Given the description of an element on the screen output the (x, y) to click on. 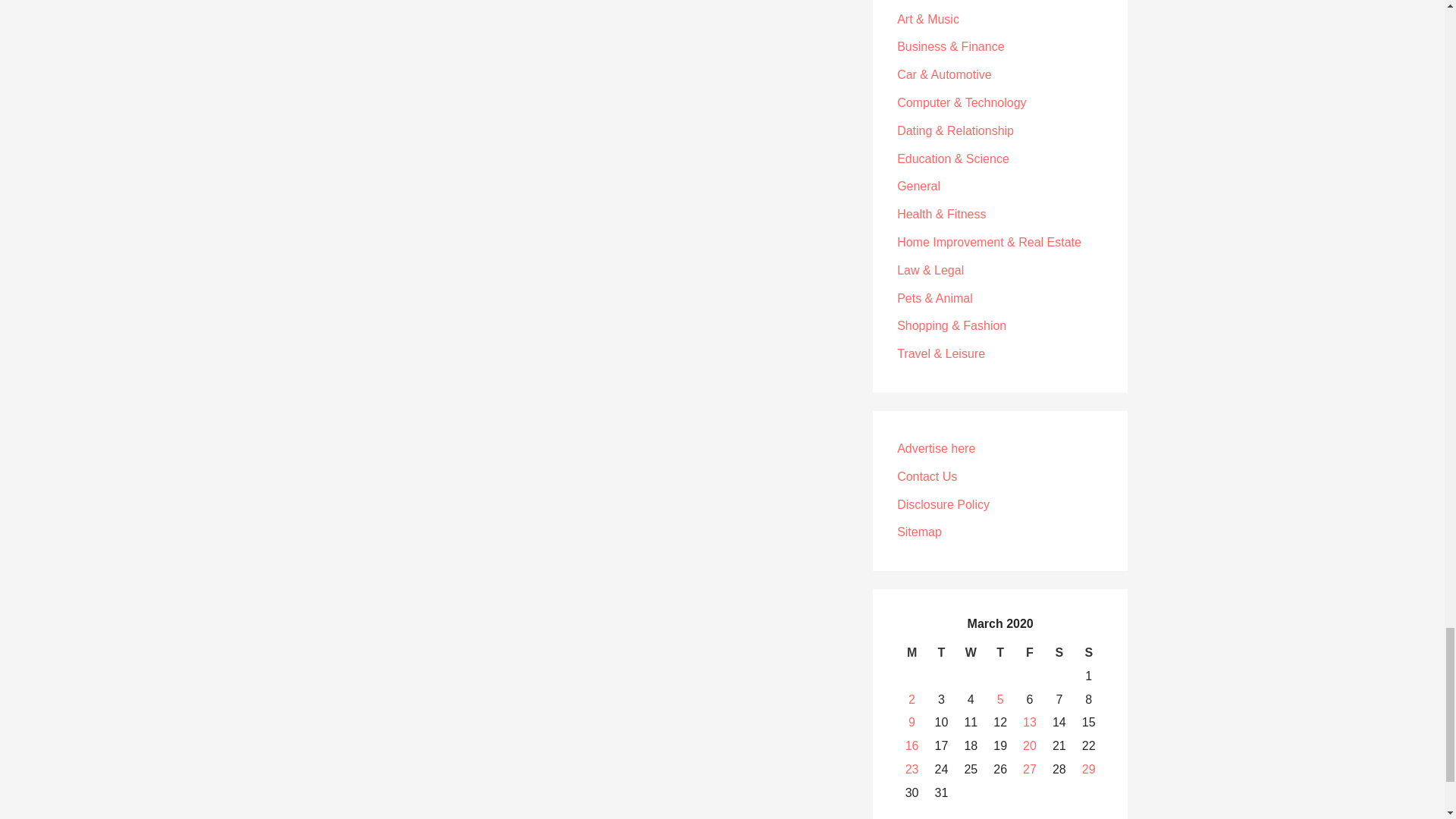
Friday (1029, 653)
Wednesday (970, 653)
Sunday (1088, 653)
Saturday (1058, 653)
Tuesday (941, 653)
Thursday (999, 653)
Monday (911, 653)
